Given the description of an element on the screen output the (x, y) to click on. 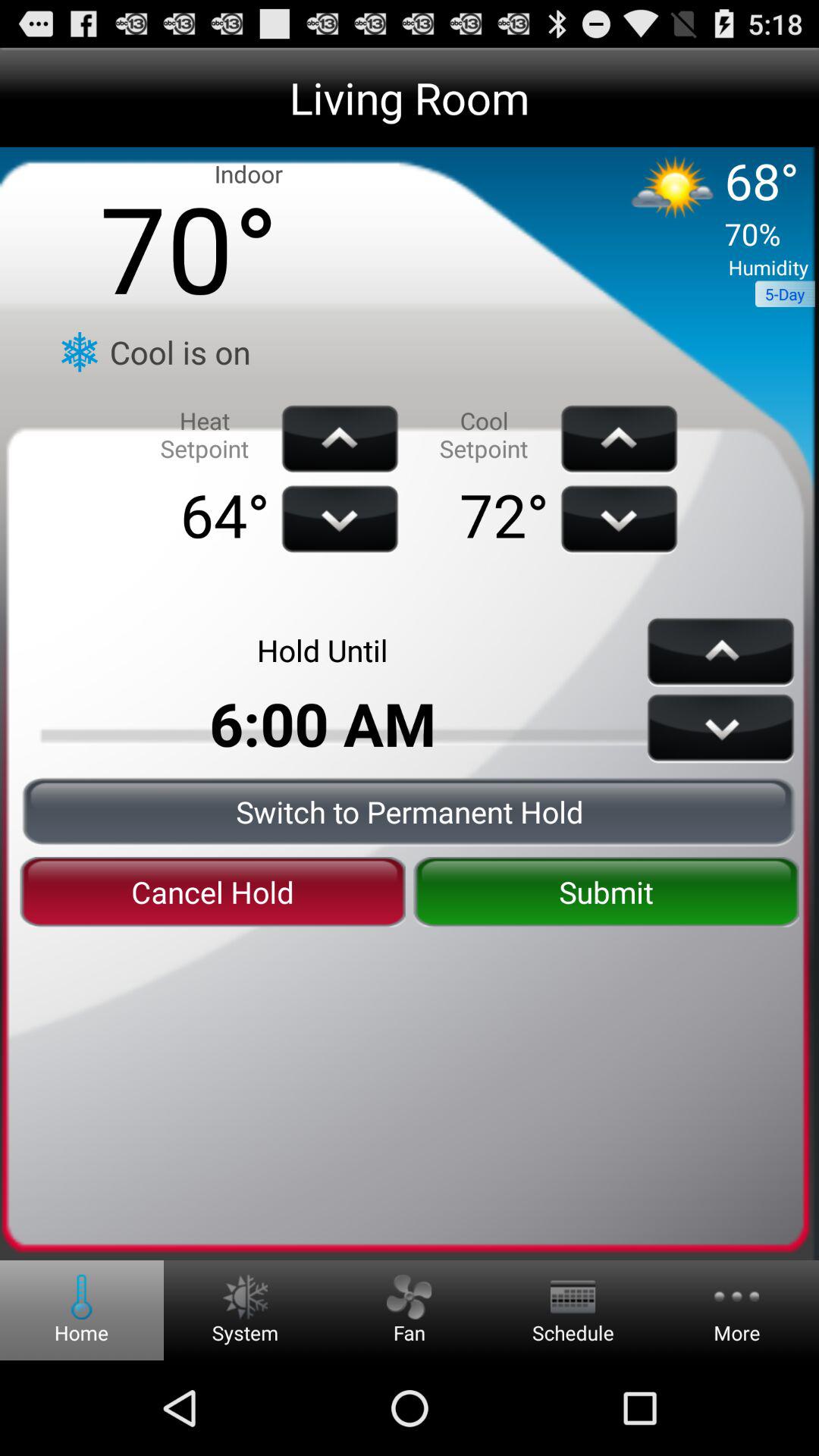
press item next to the cancel hold (606, 892)
